Given the description of an element on the screen output the (x, y) to click on. 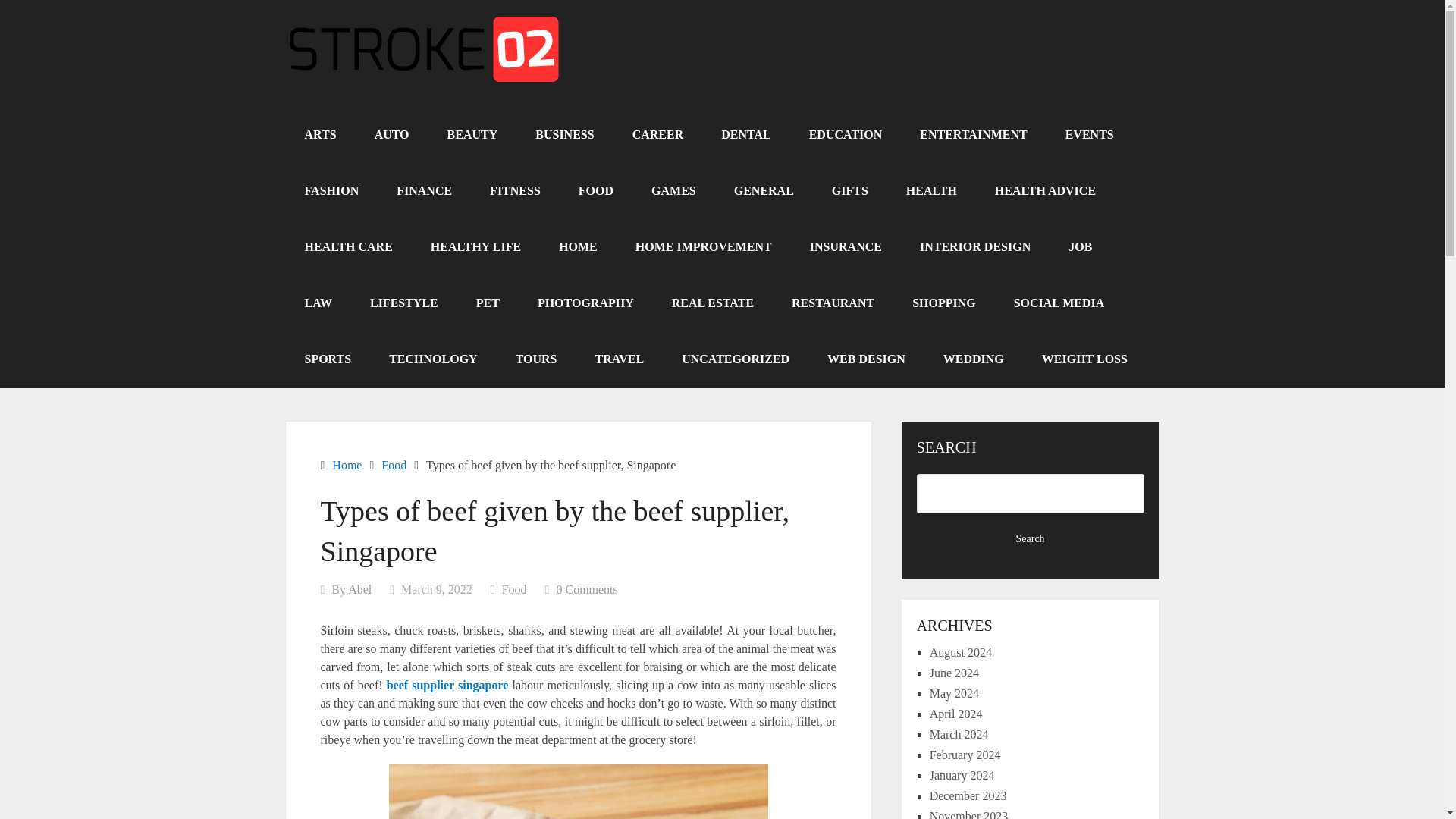
GIFTS (849, 190)
TECHNOLOGY (432, 359)
HOME IMPROVEMENT (702, 247)
SHOPPING (943, 303)
PHOTOGRAPHY (585, 303)
SPORTS (327, 359)
FINANCE (423, 190)
HOME (577, 247)
FASHION (331, 190)
HEALTH CARE (347, 247)
